Given the description of an element on the screen output the (x, y) to click on. 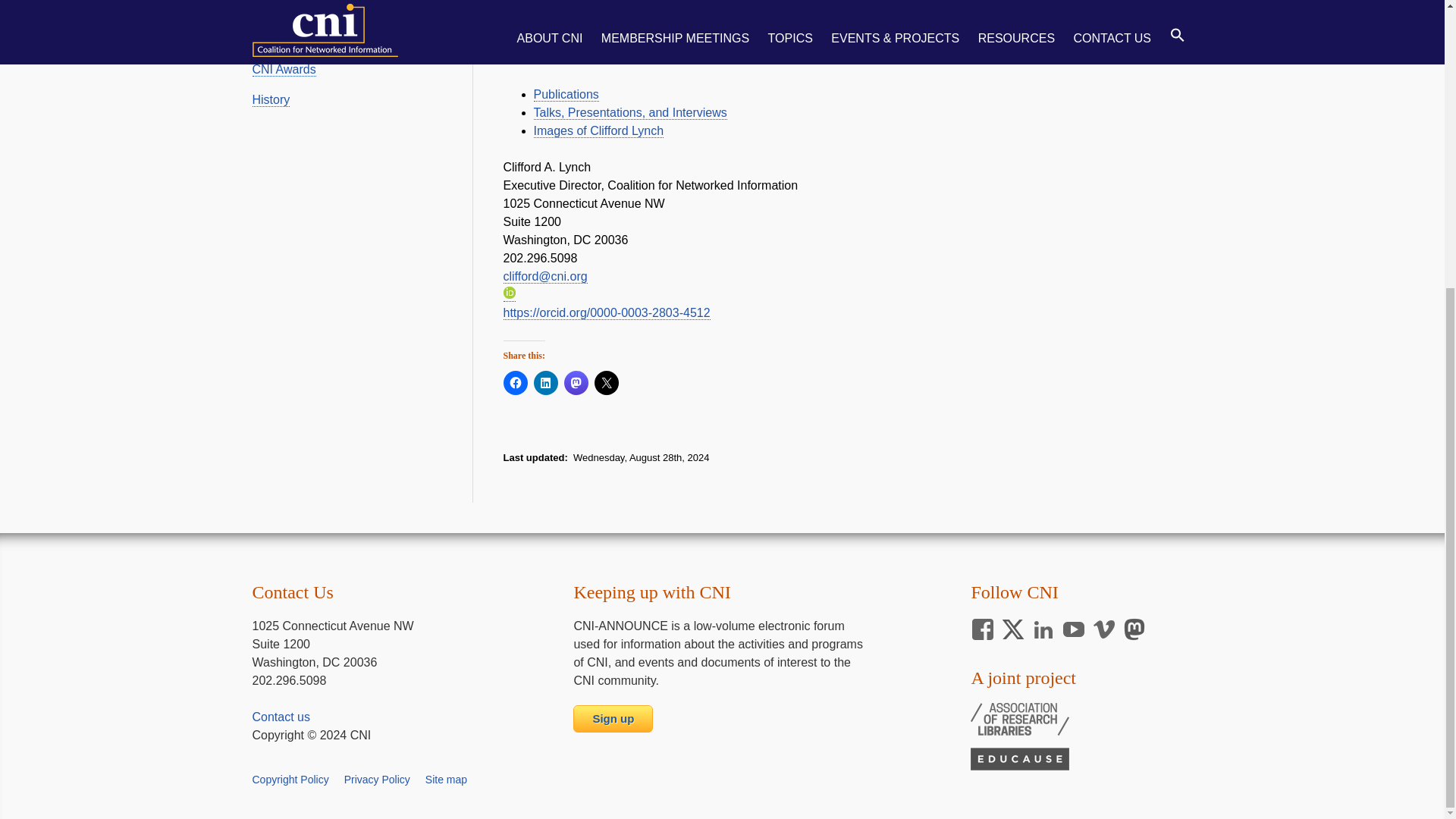
Click to share on LinkedIn (545, 382)
Publications by Clifford Lynch (566, 94)
Click to share on X (606, 382)
Click to share on Mastodon (576, 382)
Talks, Presentations, and Interviews (630, 112)
Images of Clifford Lynch (598, 131)
Click to share on Facebook (515, 382)
Publications (566, 94)
